Given the description of an element on the screen output the (x, y) to click on. 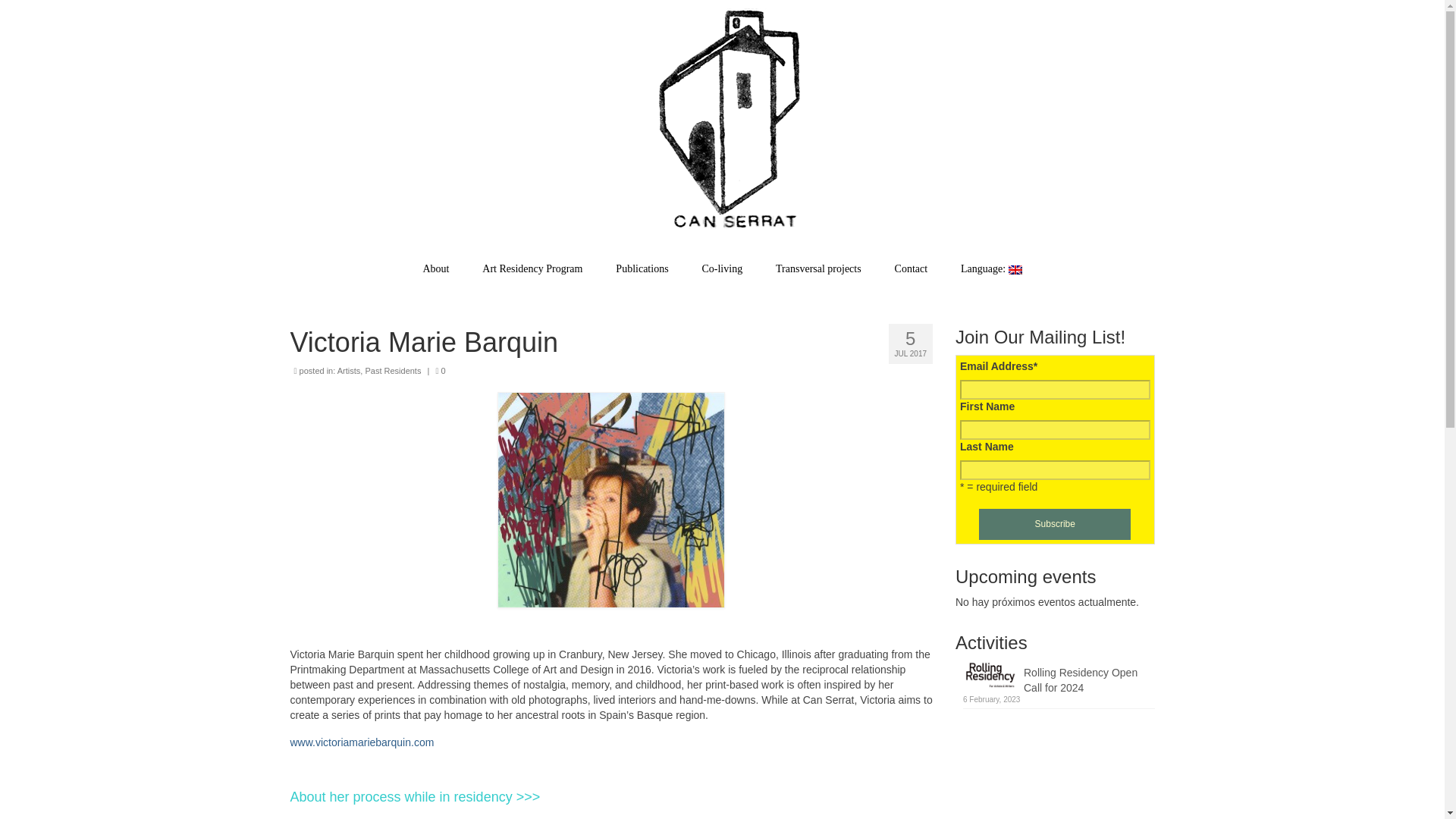
English (990, 268)
Rolling Residency Open Call for 2024 (1058, 677)
Publications (640, 268)
Subscribe (1054, 523)
Art Residency Program (531, 268)
Co-living (721, 268)
About (435, 268)
Transversal projects (818, 268)
